Given the description of an element on the screen output the (x, y) to click on. 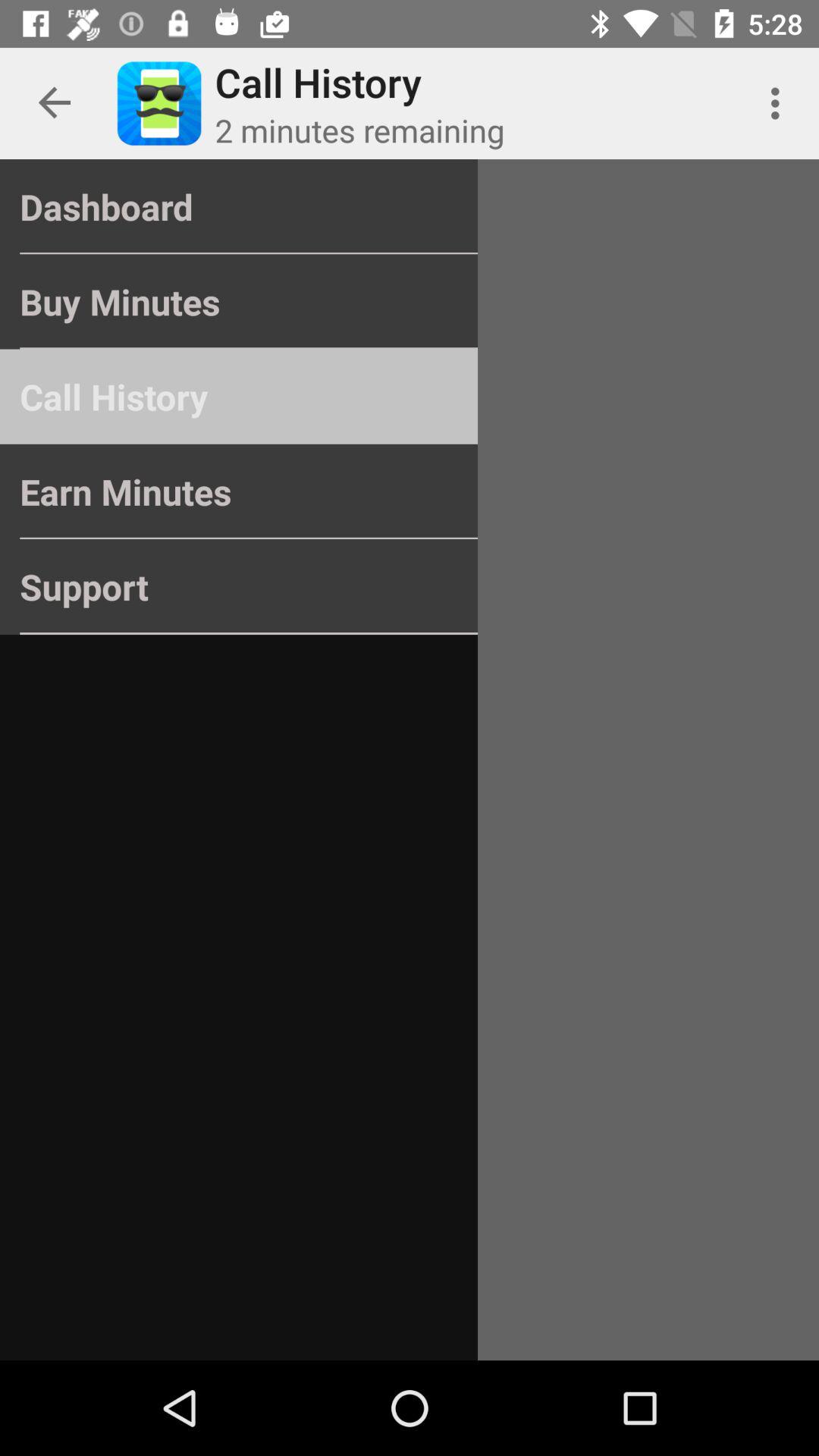
flip until earn minutes icon (238, 491)
